Given the description of an element on the screen output the (x, y) to click on. 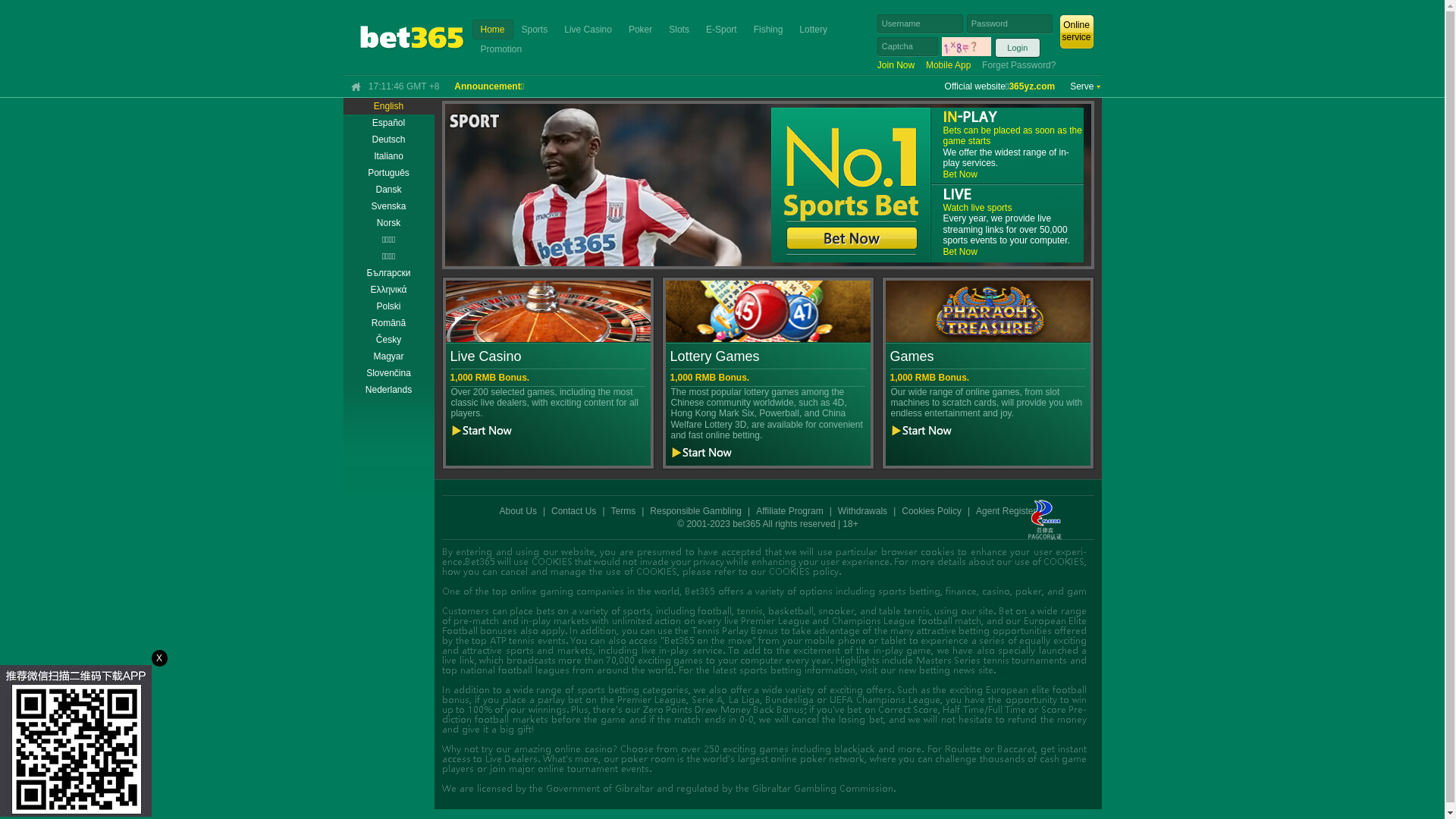
Affiliate Program Element type: text (789, 510)
Dansk Element type: text (387, 189)
Login Element type: text (1017, 47)
Sports Element type: text (534, 29)
Lottery Element type: text (812, 29)
English Element type: text (387, 105)
Norsk Element type: text (387, 222)
Agent Register Element type: text (1005, 510)
Live Casino Element type: text (587, 29)
Italiano Element type: text (387, 155)
Responsible Gambling Element type: text (695, 510)
Serve Element type: text (1081, 86)
Polski Element type: text (387, 306)
E-Sport Element type: text (721, 29)
Fishing Element type: text (768, 29)
Contact Us Element type: text (573, 510)
Mobile App Element type: text (947, 64)
Slots Element type: text (678, 29)
Promotion Element type: text (500, 49)
Join Now Element type: text (895, 64)
Deutsch Element type: text (387, 139)
Forget Password? Element type: text (1018, 64)
Magyar Element type: text (387, 356)
Withdrawals Element type: text (862, 510)
Home Element type: text (491, 29)
Poker Element type: text (640, 29)
Nederlands Element type: text (387, 389)
Cookies Policy Element type: text (931, 510)
About Us Element type: text (517, 510)
Online service Element type: text (1075, 33)
Terms Element type: text (622, 510)
Svenska Element type: text (387, 205)
